Given the description of an element on the screen output the (x, y) to click on. 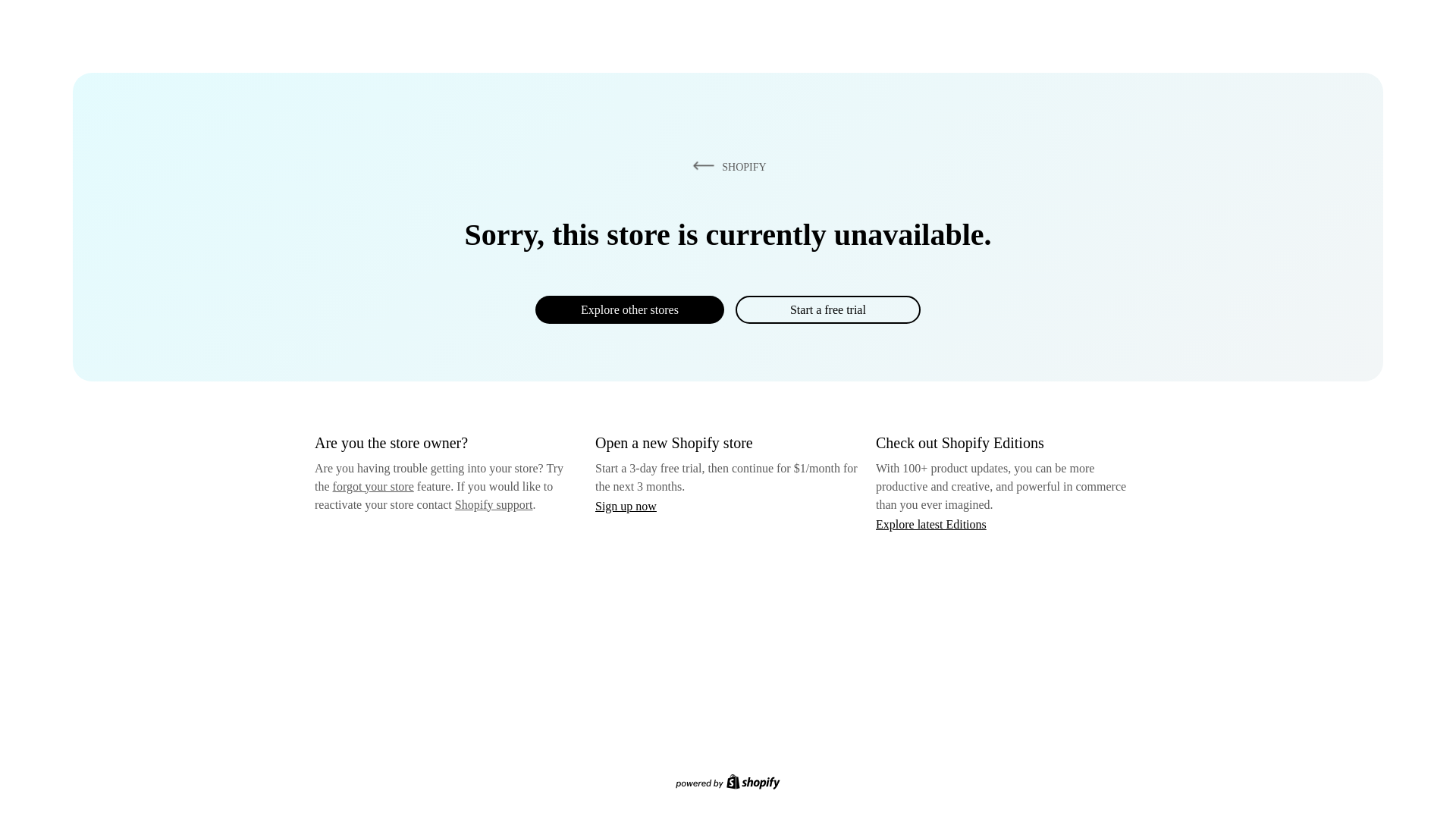
Shopify support (493, 504)
Start a free trial (827, 309)
SHOPIFY (726, 166)
forgot your store (373, 486)
Explore other stores (629, 309)
Sign up now (625, 505)
Explore latest Editions (931, 523)
